Given the description of an element on the screen output the (x, y) to click on. 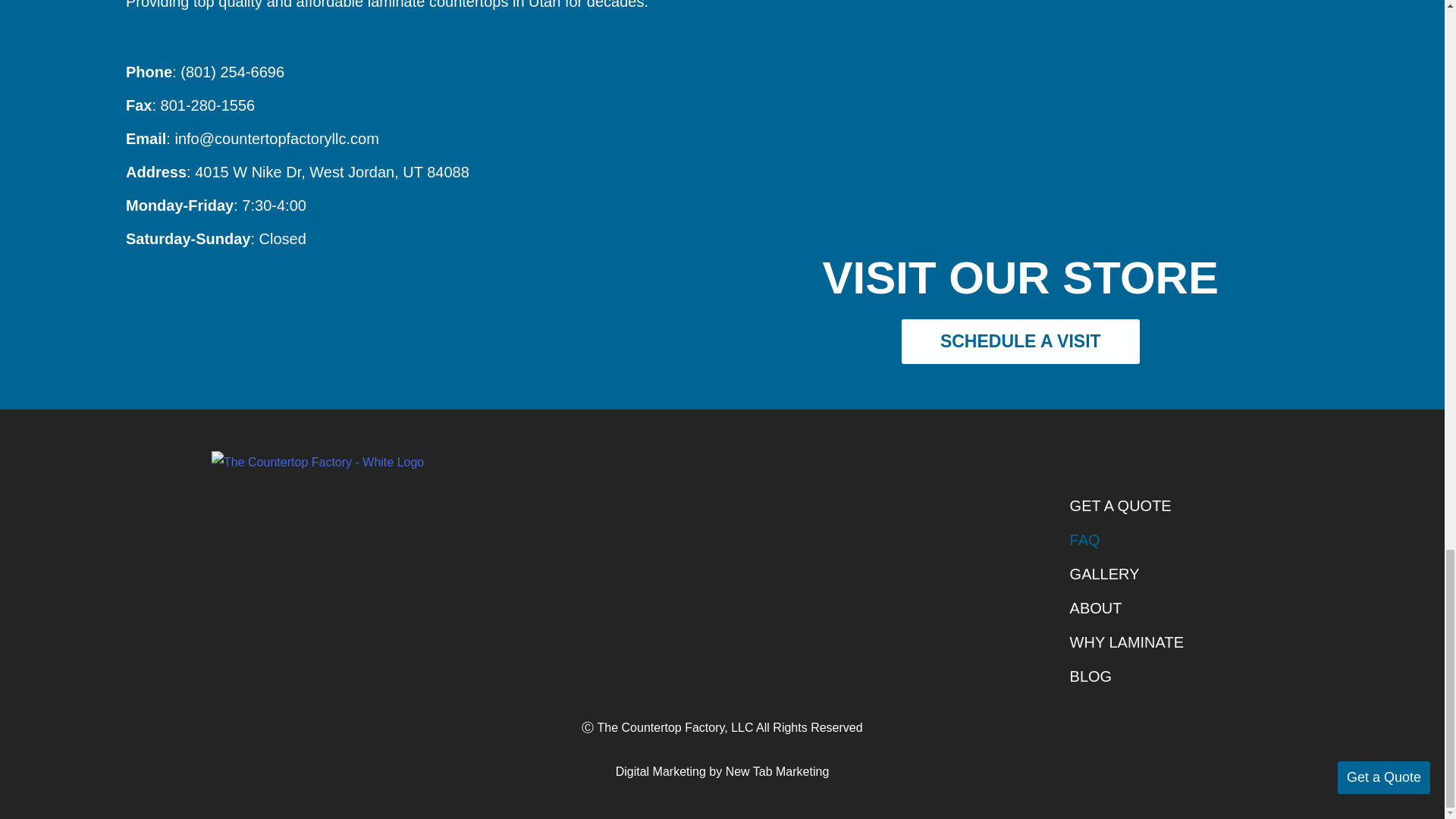
801-280-1556 (208, 105)
GALLERY (1126, 574)
SCHEDULE A VISIT (1020, 341)
BLOG (1126, 676)
ABOUT (1126, 608)
GET A QUOTE (1126, 505)
WHY LAMINATE (1126, 642)
FAQ (1126, 540)
